Given the description of an element on the screen output the (x, y) to click on. 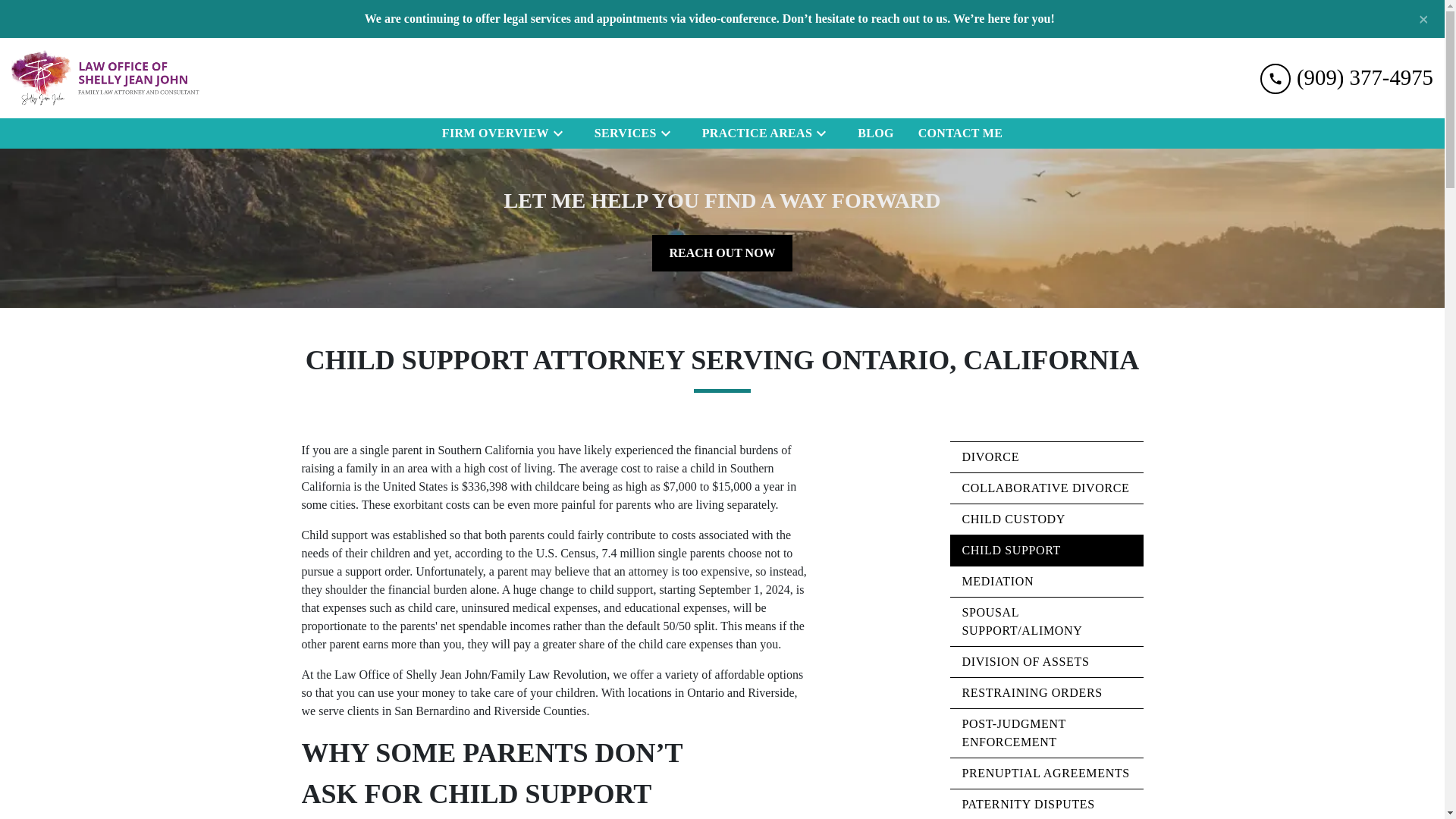
DIVORCE (1045, 457)
REACH OUT NOW (722, 253)
MEDIATION (1045, 581)
FIRM OVERVIEW (491, 132)
PRACTICE AREAS (753, 132)
DIVISION OF ASSETS (1045, 662)
CHILD CUSTODY (1045, 519)
CHILD SUPPORT (1045, 550)
COLLABORATIVE DIVORCE (1045, 488)
CONTACT ME (960, 132)
